Given the description of an element on the screen output the (x, y) to click on. 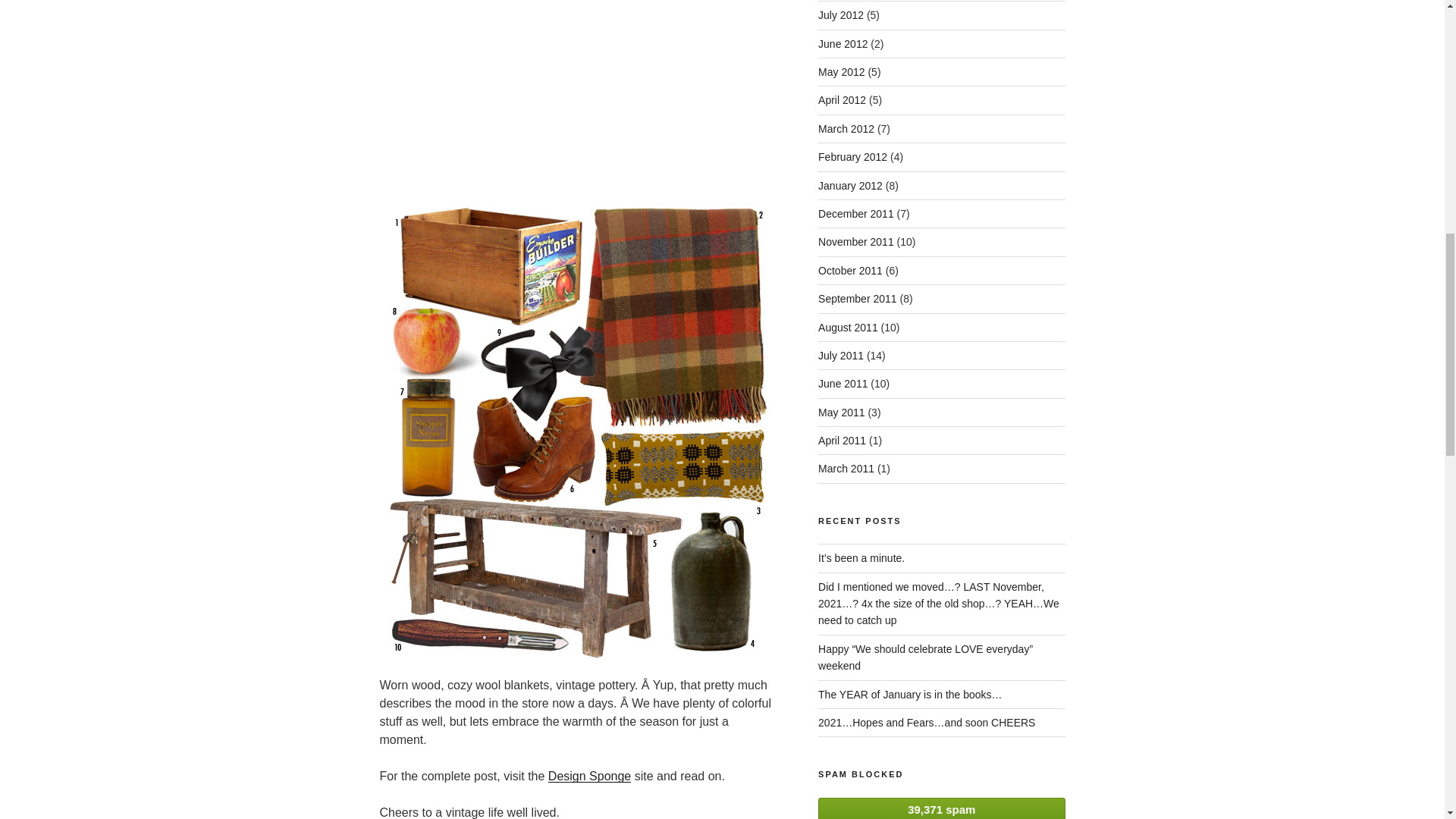
Design Sponge (589, 775)
cider-house-rules-1 (578, 92)
June 2012 (842, 43)
April 2012 (842, 100)
May 2012 (841, 71)
February 2012 (852, 156)
December 2011 (855, 214)
January 2012 (850, 185)
July 2012 (840, 15)
March 2012 (846, 128)
